Given the description of an element on the screen output the (x, y) to click on. 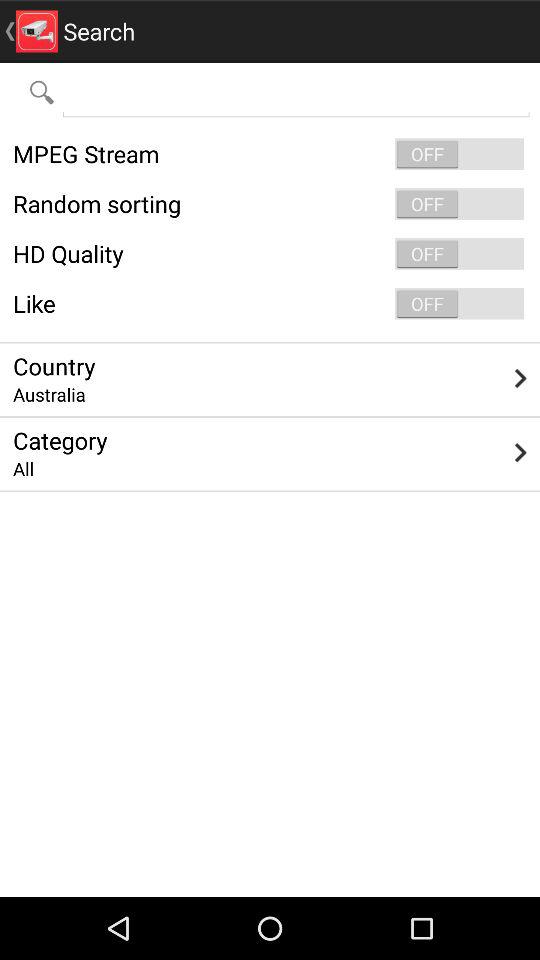
click icon above the like item (269, 253)
